Given the description of an element on the screen output the (x, y) to click on. 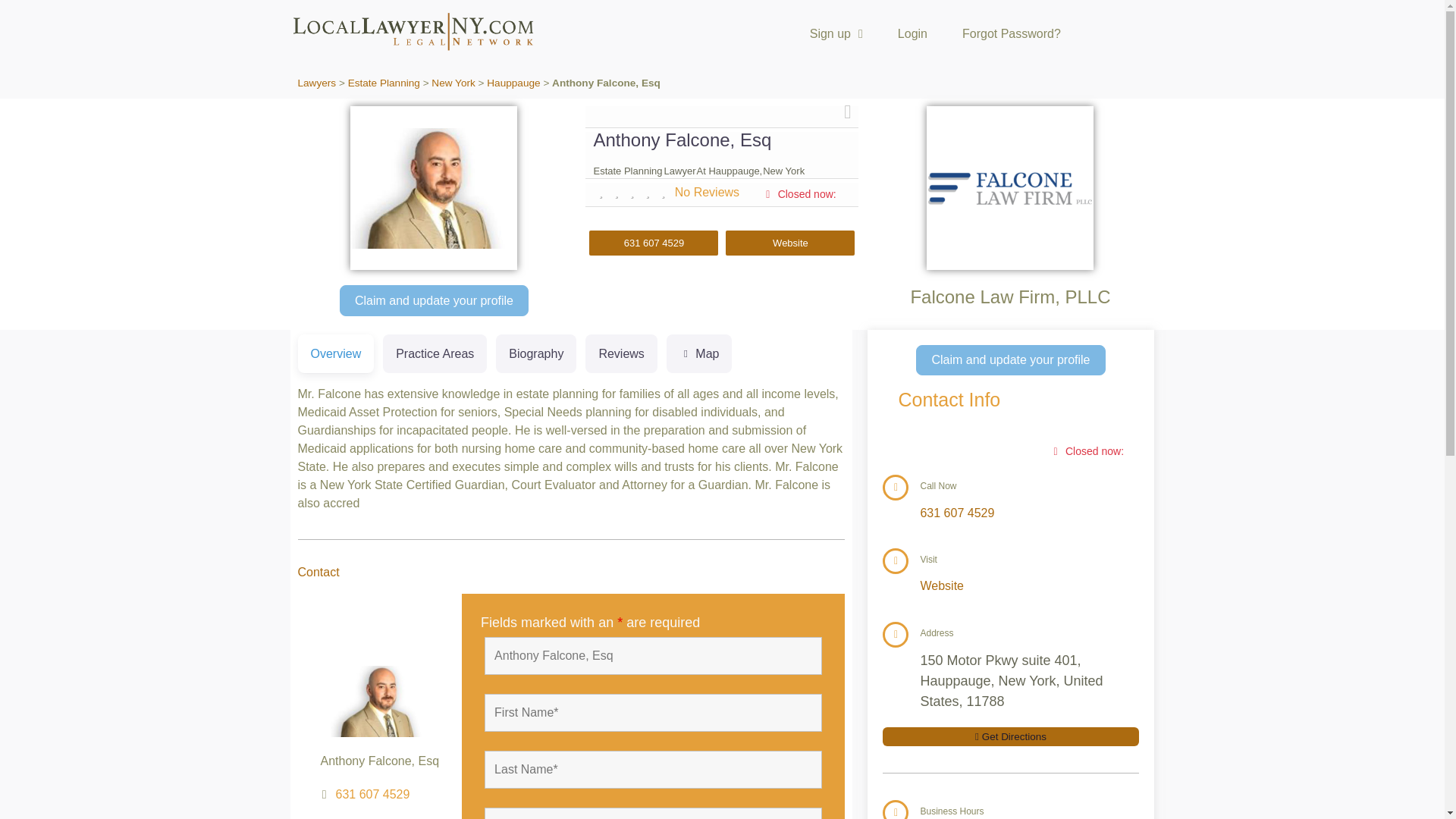
Closed now: (1090, 451)
Anthony Falcone, Esq (653, 655)
Closed now: (802, 194)
Map (699, 437)
No rating yet! (631, 192)
Estate Planning (383, 82)
New York (452, 82)
Login (912, 33)
View: Anthony Falcone, Esq (681, 139)
631 607 4529 (957, 512)
Overview (335, 353)
Lawyers (316, 82)
No Reviews (707, 192)
631 607 4529 (373, 816)
Claim and update your profile (433, 300)
